Given the description of an element on the screen output the (x, y) to click on. 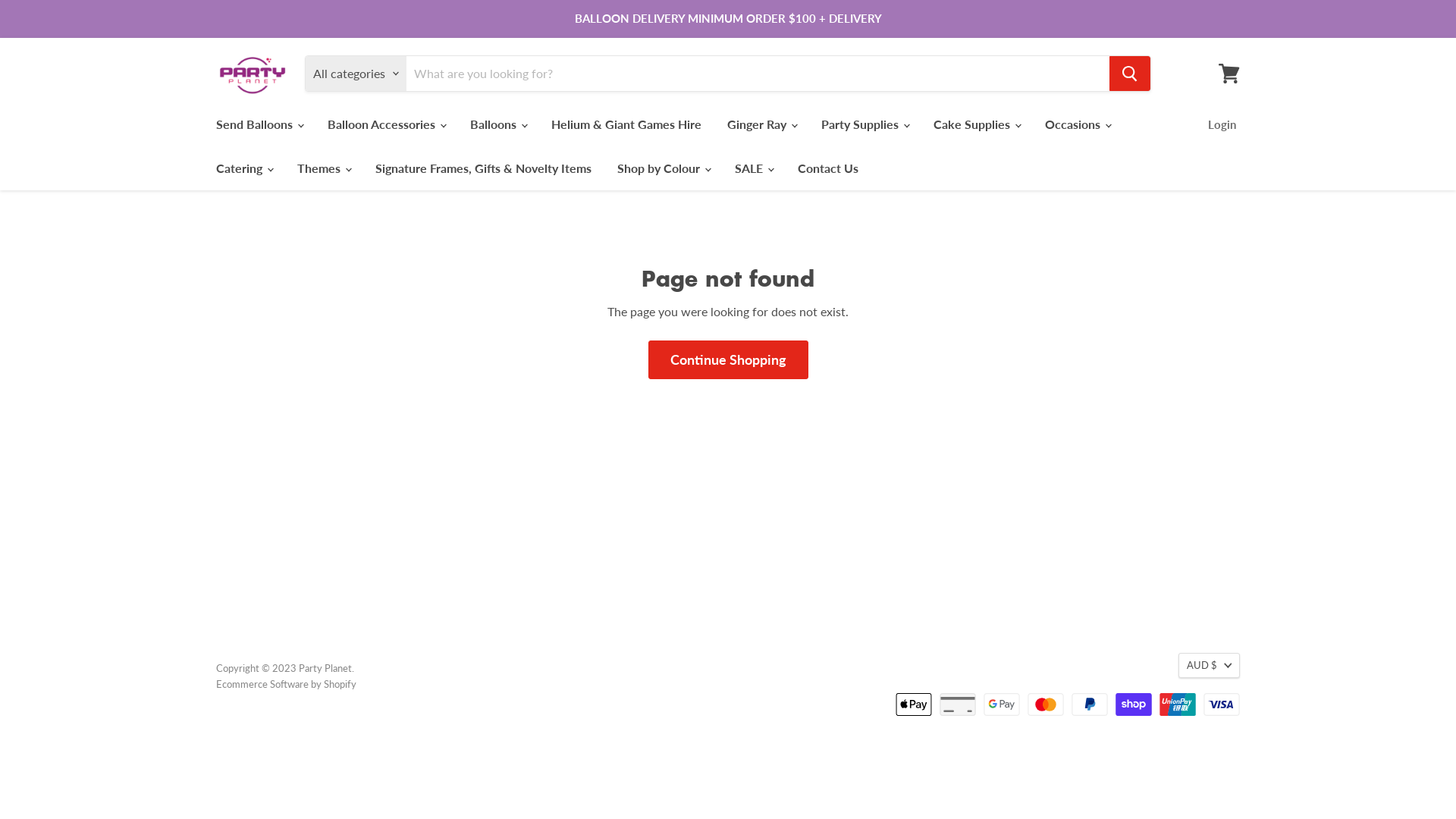
Helium & Giant Games Hire Element type: text (625, 124)
Balloons Element type: text (497, 124)
Ecommerce Software by Shopify Element type: text (286, 683)
Login Element type: text (1221, 124)
Send Balloons Element type: text (258, 124)
View cart Element type: text (1229, 73)
Signature Frames, Gifts & Novelty Items Element type: text (483, 168)
Continue Shopping Element type: text (727, 359)
Contact Us Element type: text (827, 168)
AUD $ Element type: text (1208, 664)
Cake Supplies Element type: text (976, 124)
Themes Element type: text (322, 168)
Party Supplies Element type: text (864, 124)
SALE Element type: text (753, 168)
Shop by Colour Element type: text (662, 168)
Catering Element type: text (243, 168)
Ginger Ray Element type: text (760, 124)
Balloon Accessories Element type: text (385, 124)
Occasions Element type: text (1076, 124)
